Given the description of an element on the screen output the (x, y) to click on. 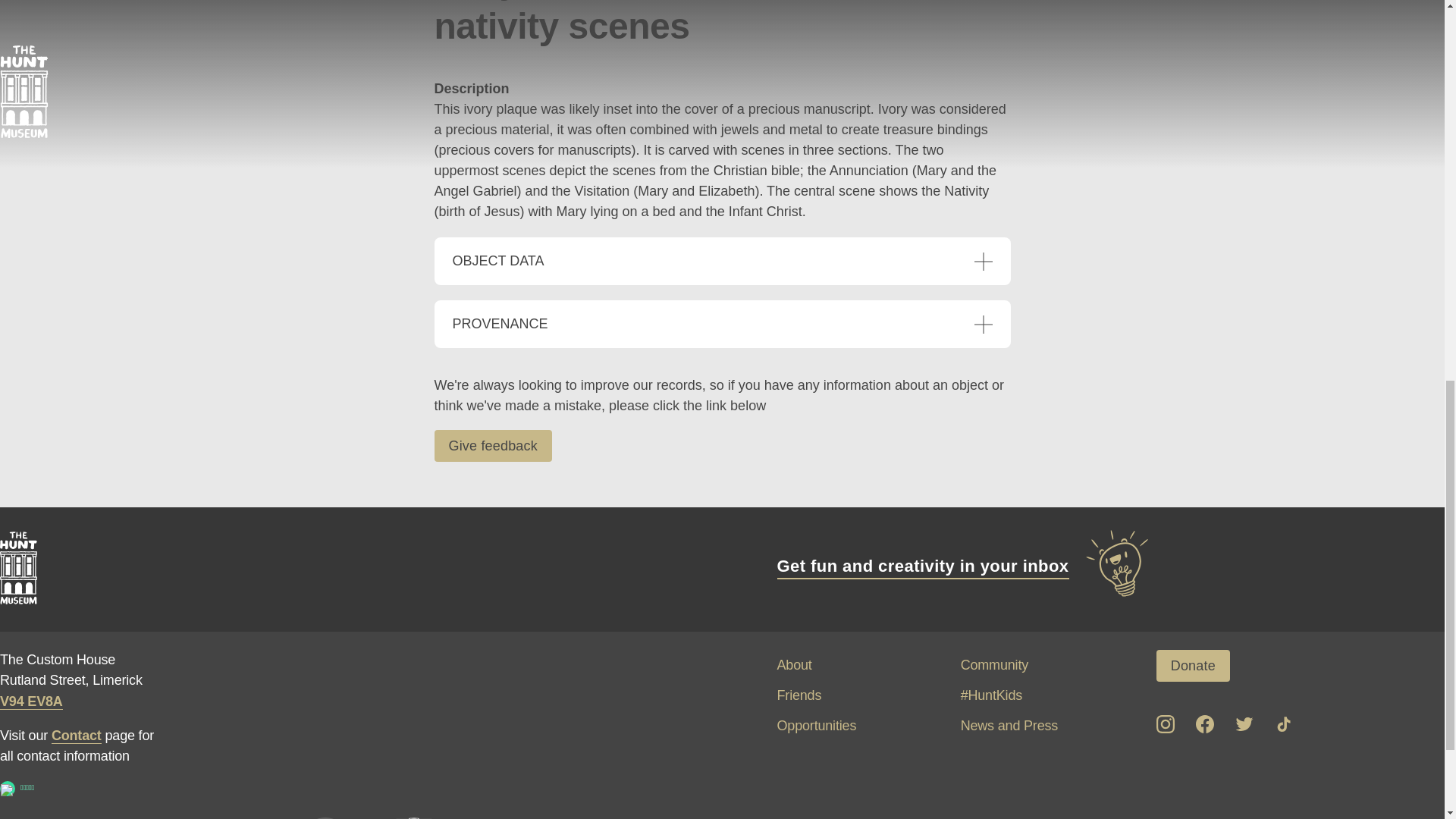
Opportunities (816, 725)
About (793, 664)
Give feedback (492, 445)
Donate (1193, 665)
Read reviews on Tripadvisor  (7, 788)
News and Press (1009, 725)
Contact (75, 735)
Community (993, 664)
Friends (798, 695)
V94 EV8A (31, 701)
Get fun and creativity in your inbox (963, 566)
